Given the description of an element on the screen output the (x, y) to click on. 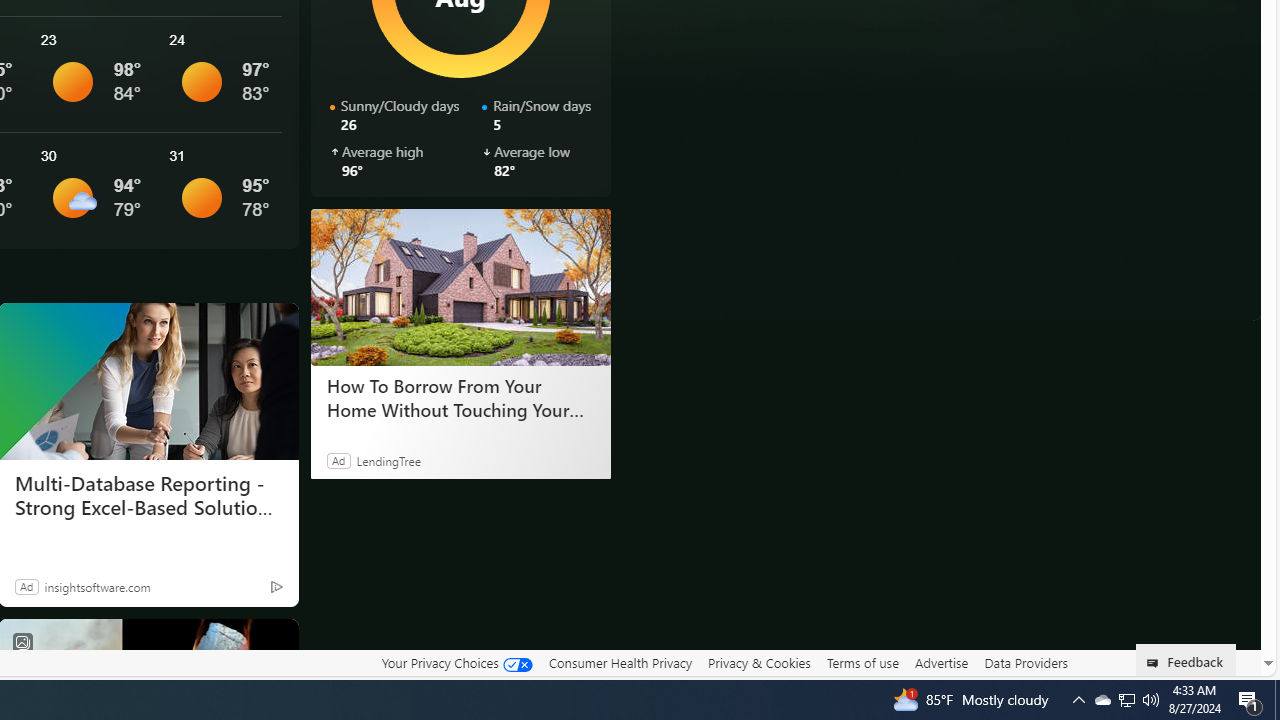
Terms of use (861, 663)
Class: feedback_link_icon-DS-EntryPoint1-1 (1156, 663)
insightsoftware.com (97, 586)
Data Providers (1025, 663)
Your Privacy Choices (456, 663)
